Given the description of an element on the screen output the (x, y) to click on. 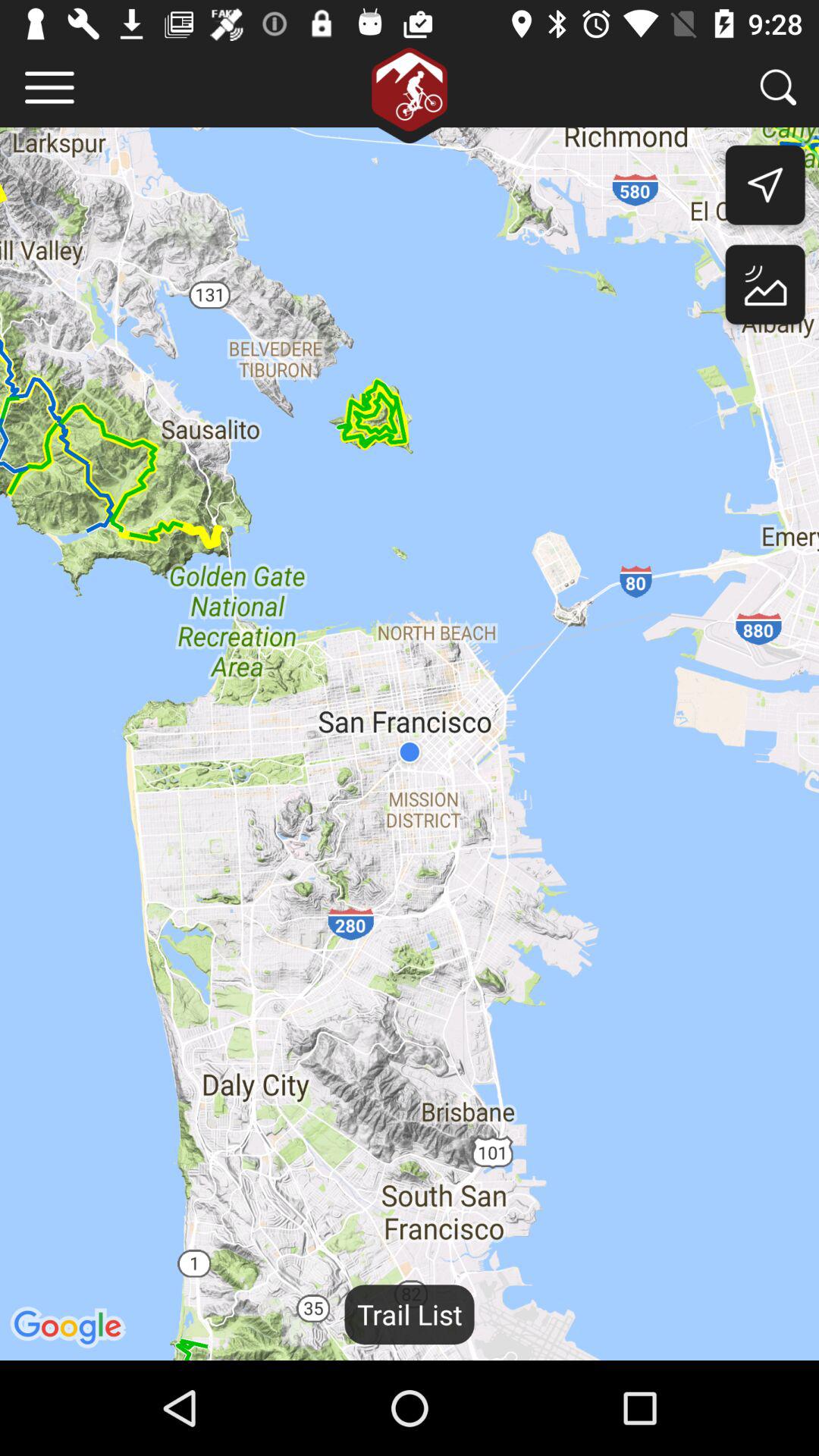
magnify (778, 87)
